Given the description of an element on the screen output the (x, y) to click on. 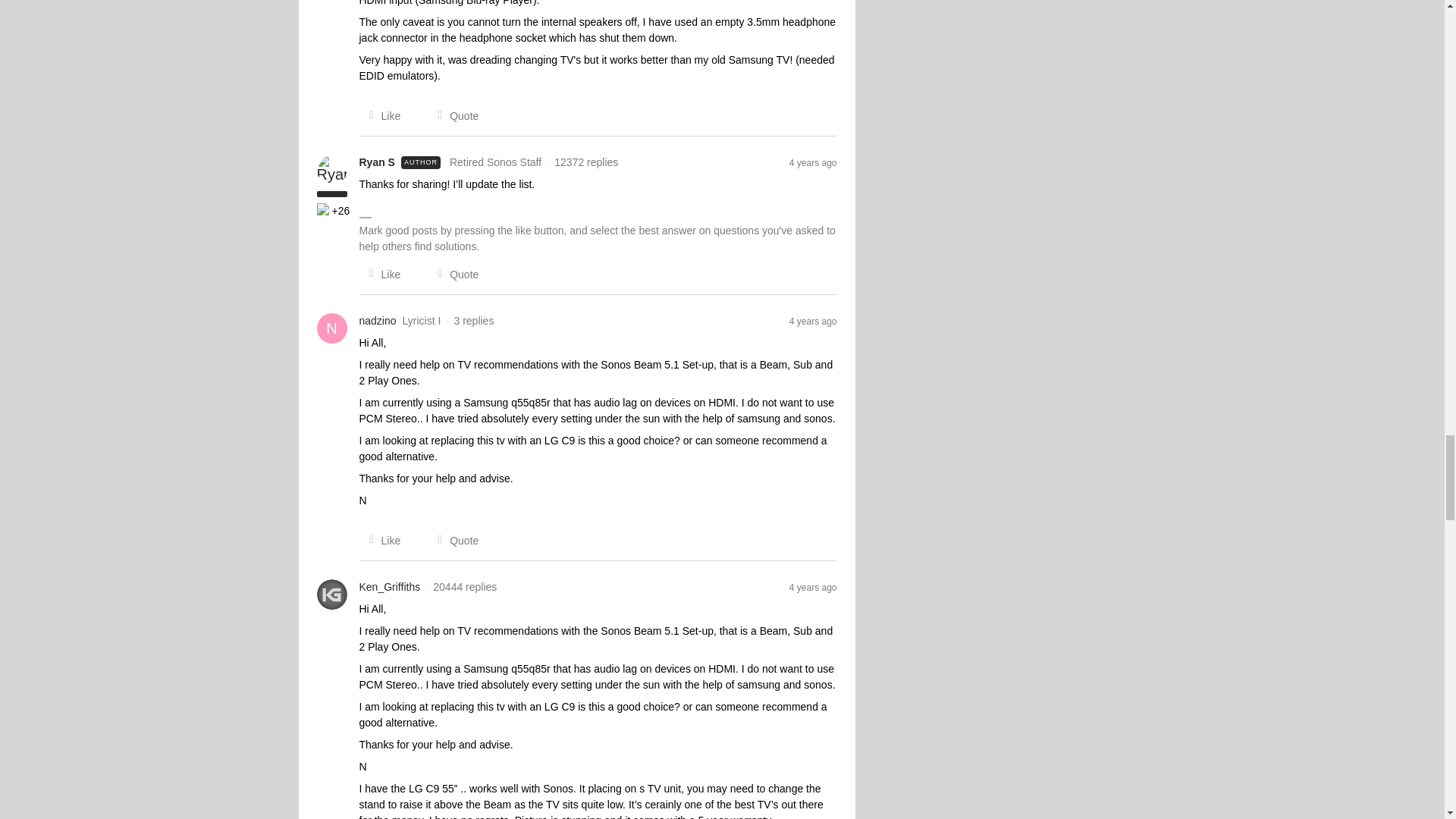
Mixing it up III (324, 210)
